Given the description of an element on the screen output the (x, y) to click on. 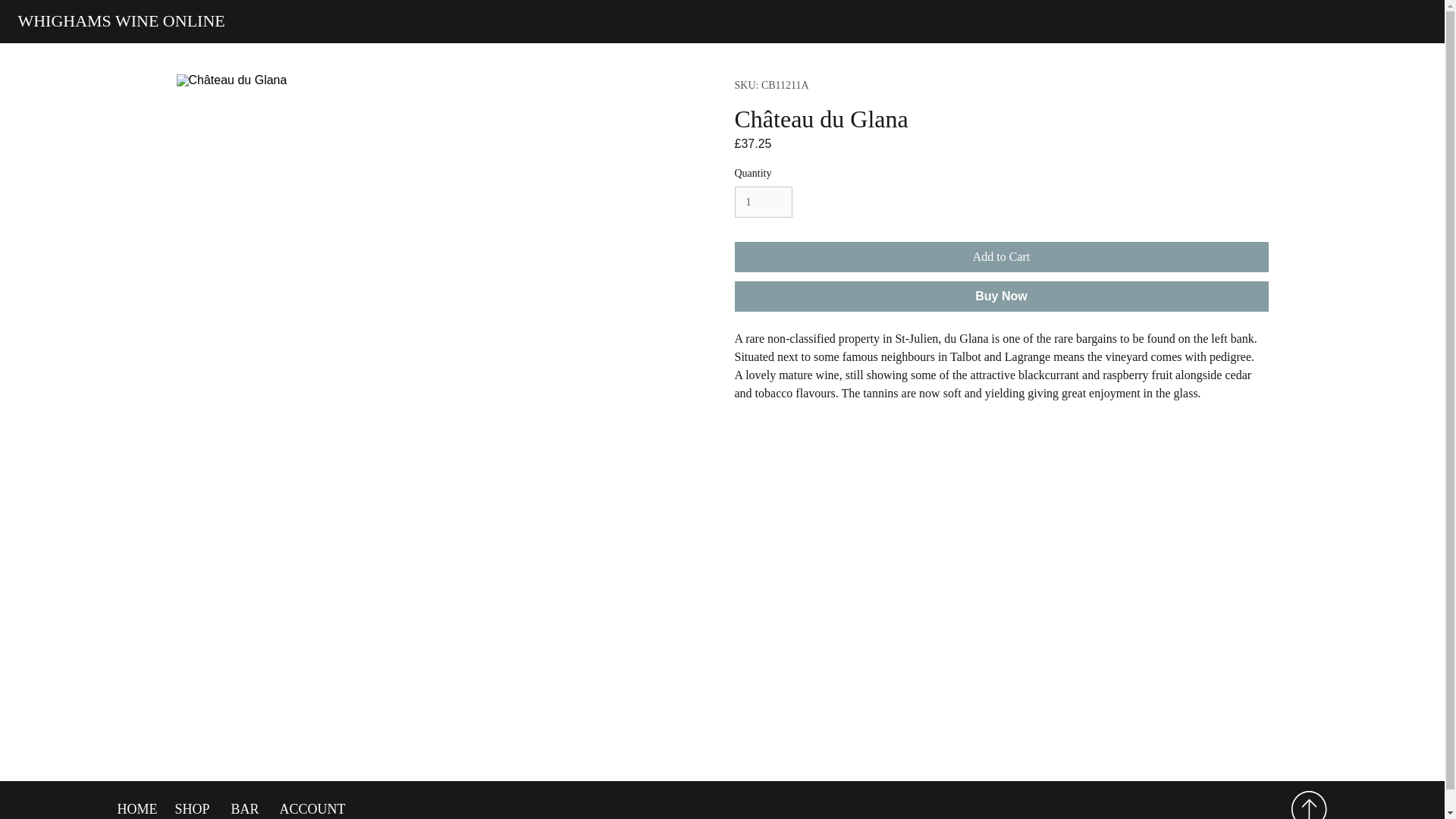
1 (762, 201)
Buy Now (1000, 296)
BAR (243, 808)
ACCOUNT (309, 808)
HOME (134, 808)
SHOP (191, 808)
Add to Cart (1000, 256)
